Given the description of an element on the screen output the (x, y) to click on. 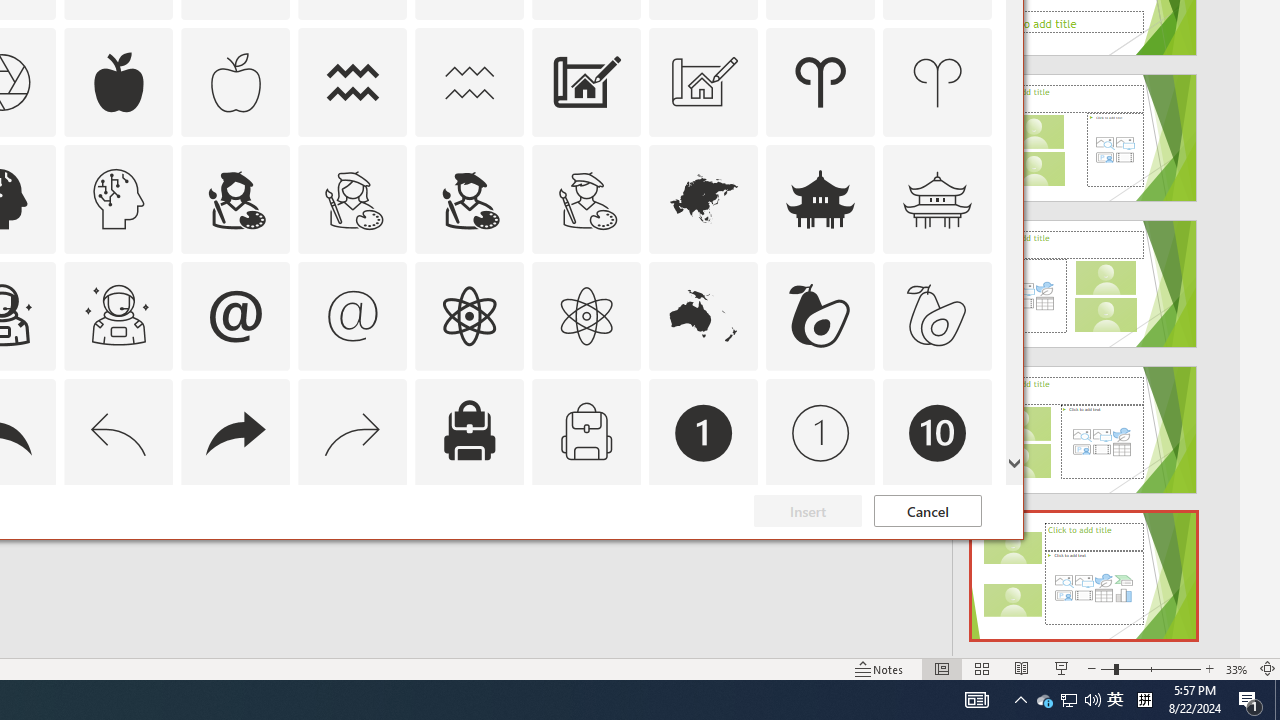
AutomationID: Icons_Avocado (820, 316)
IME Mode Icon - IME is disabled (1115, 699)
AutomationID: Icons_Architecture (586, 82)
